Given the description of an element on the screen output the (x, y) to click on. 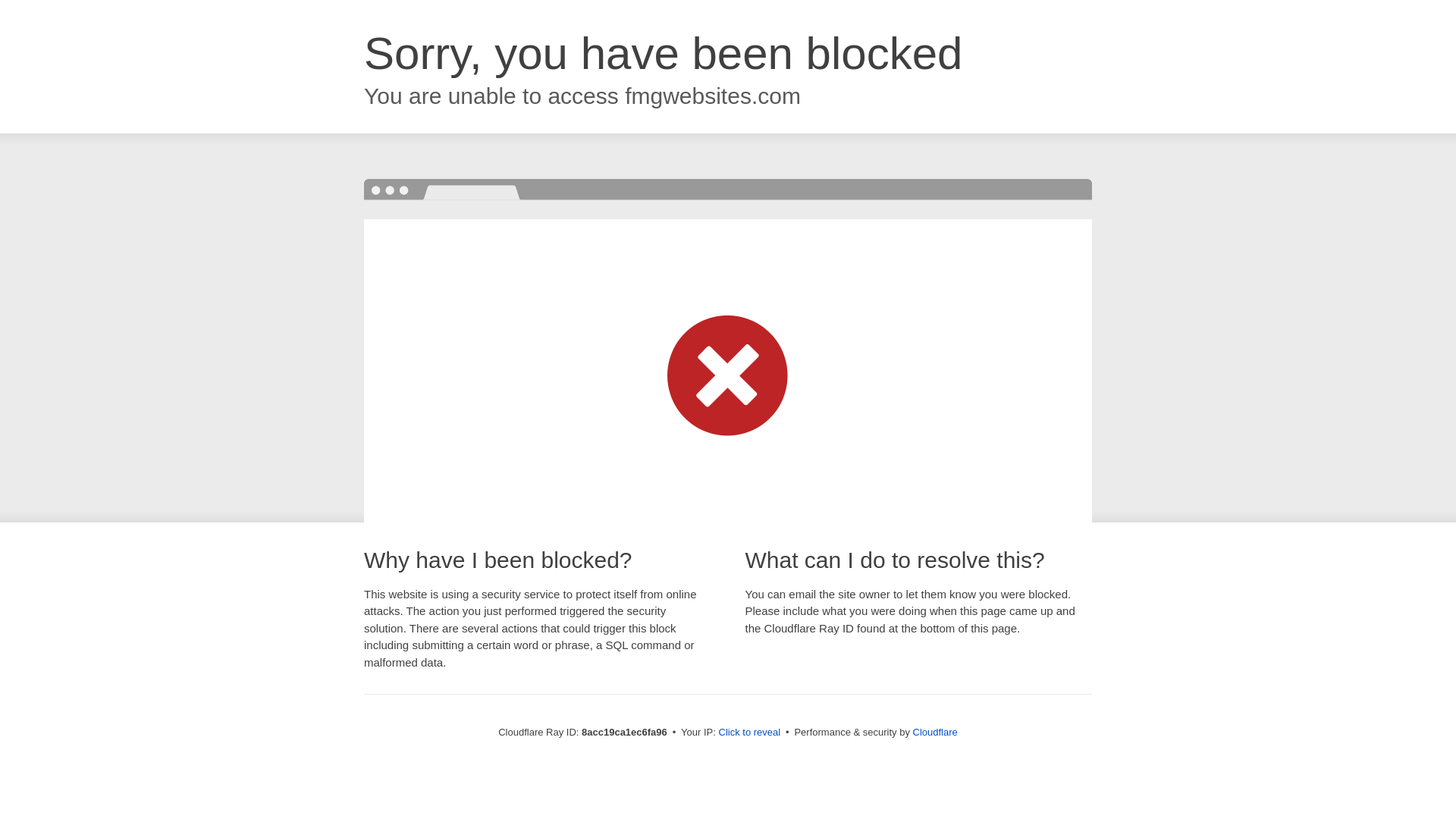
Click to reveal (749, 732)
Cloudflare (935, 731)
